Given the description of an element on the screen output the (x, y) to click on. 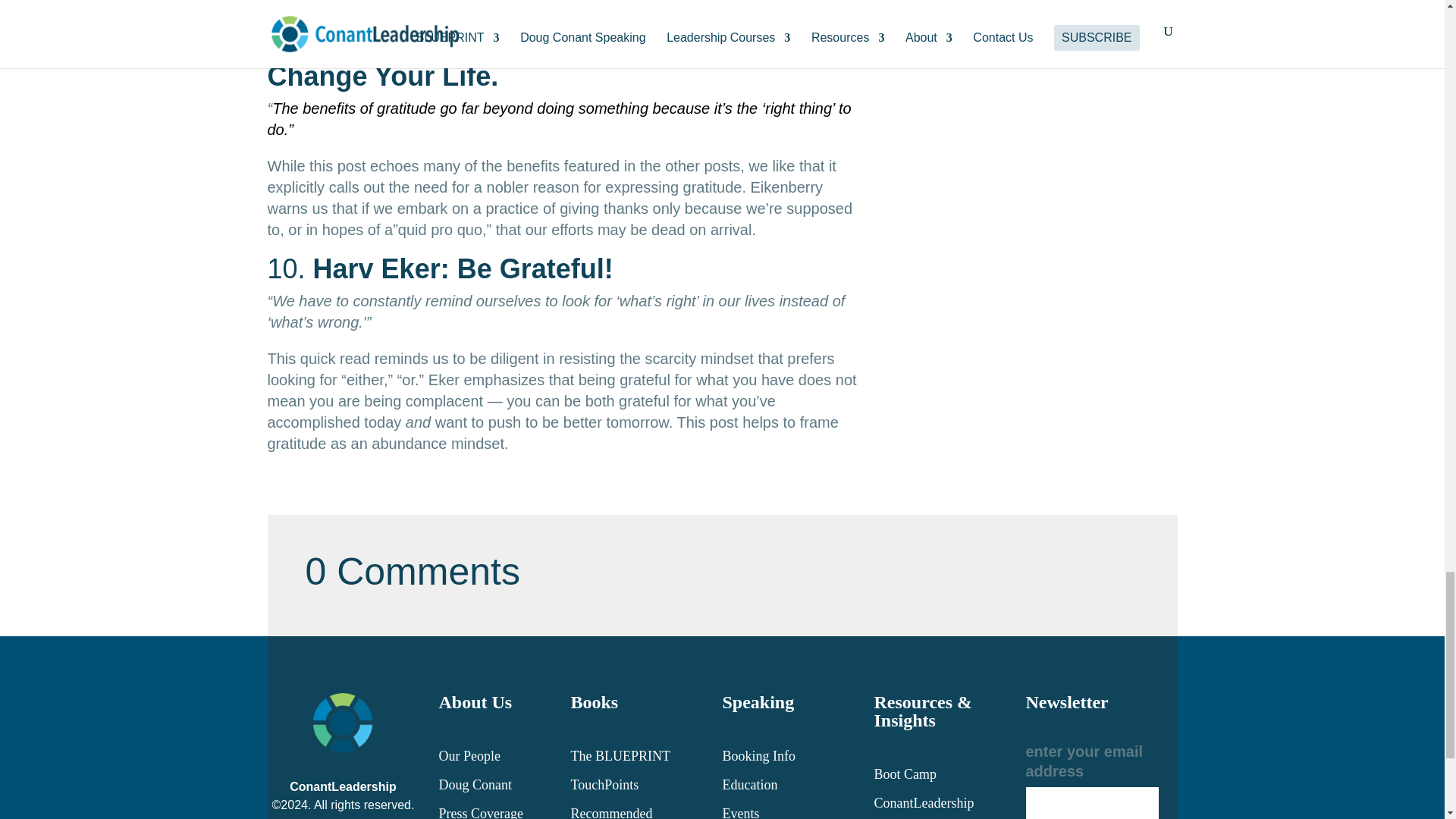
Kevin Eikenberry: 5 Ways Gratitude Will Change Your Life. (540, 62)
Be Grateful (462, 268)
5 Ways Gratitude Will Change Your Life (540, 62)
